Given the description of an element on the screen output the (x, y) to click on. 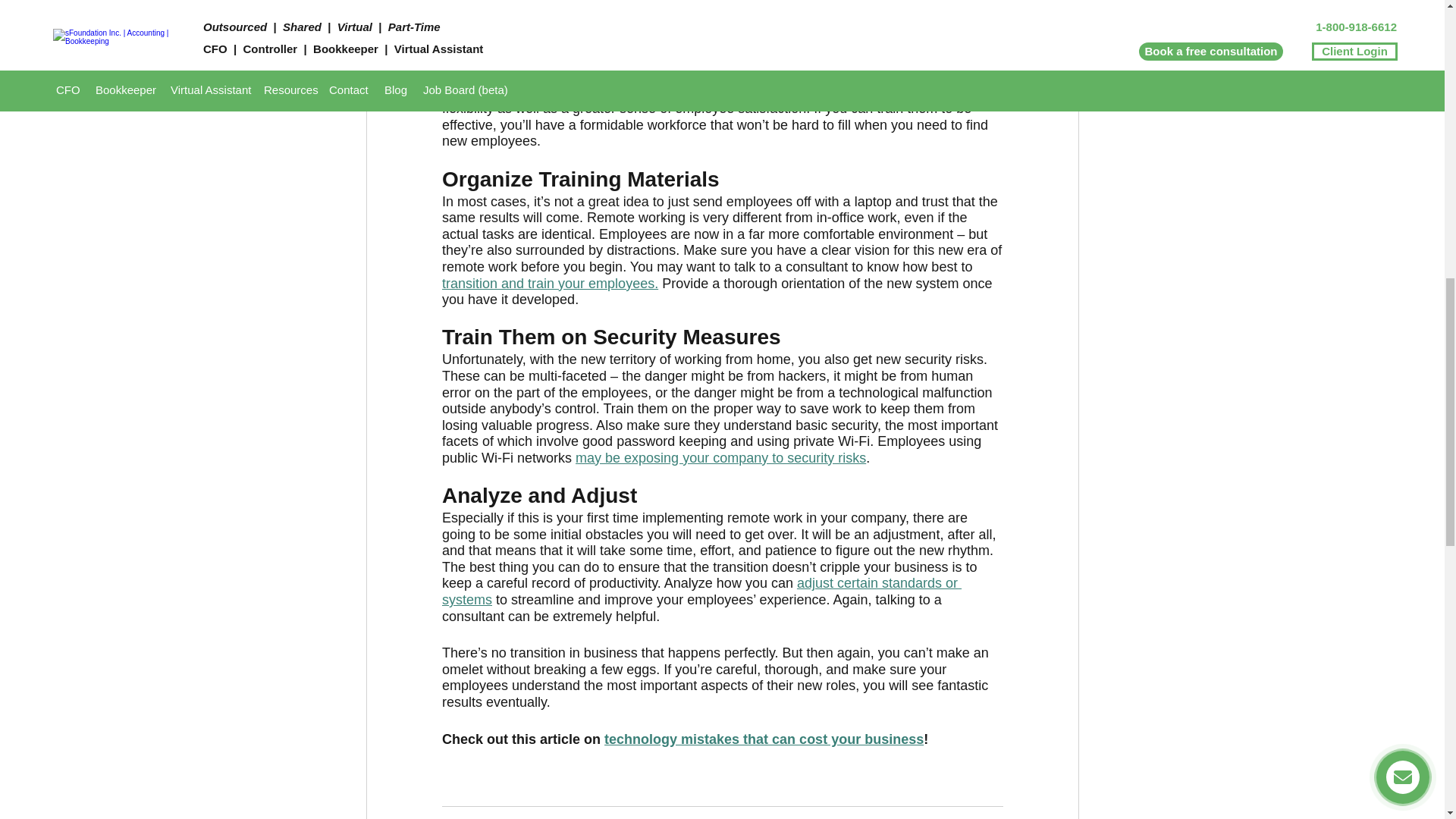
transition and train your employees. (549, 283)
technology mistakes that can cost your business (763, 739)
may be exposing your company to security risks (720, 458)
adjust certain standards or systems (700, 591)
